Given the description of an element on the screen output the (x, y) to click on. 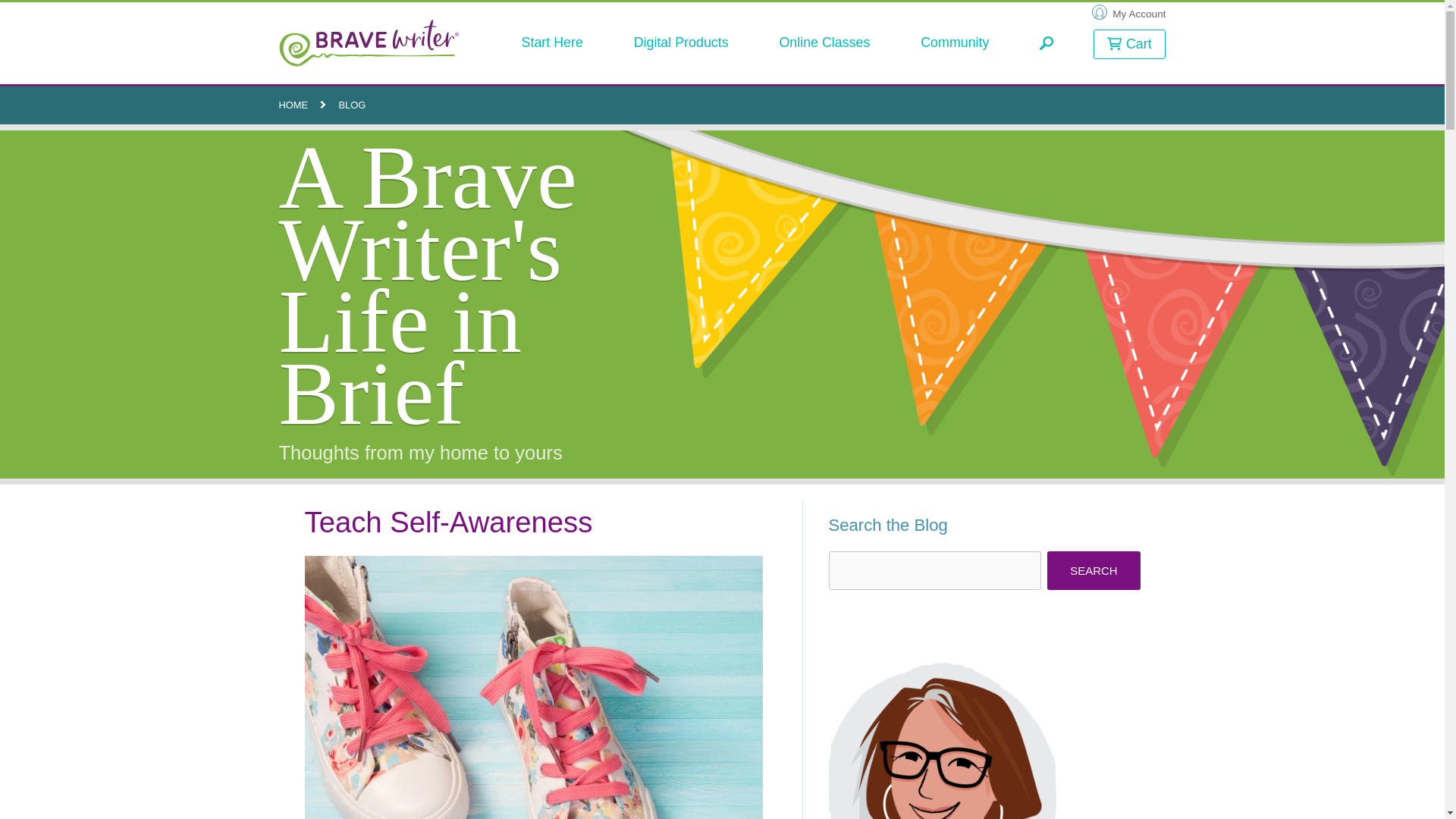
Search (1093, 570)
